Given the description of an element on the screen output the (x, y) to click on. 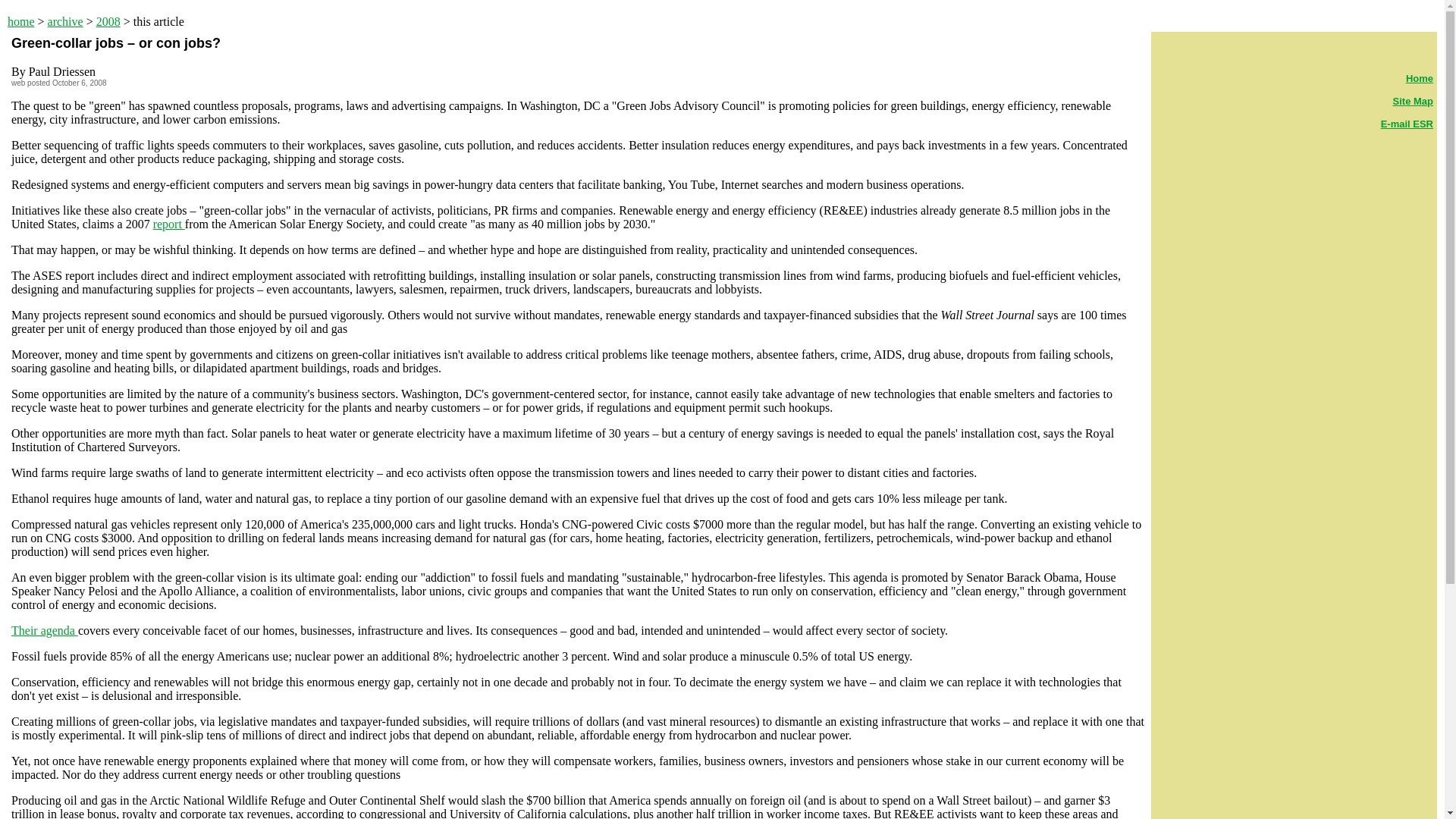
Site Map (1412, 101)
2008 (108, 21)
home (20, 21)
E-mail ESR (1406, 123)
report (168, 223)
Home (1419, 78)
Their agenda (44, 630)
archive (65, 21)
